Given the description of an element on the screen output the (x, y) to click on. 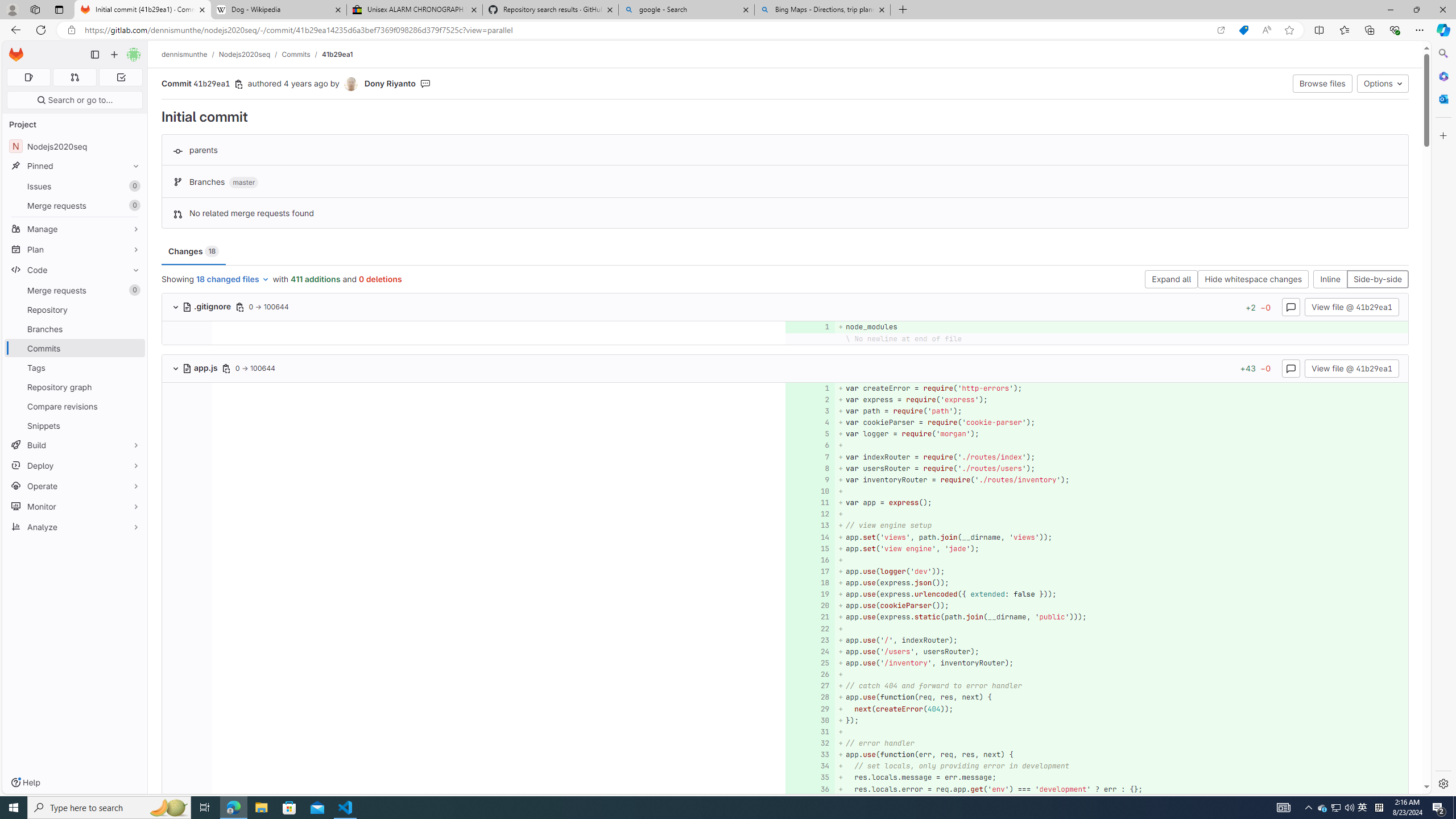
Add a comment to this line 30 (809, 720)
Skip to main content (13, 49)
+ // view engine setup  (1120, 525)
9 (808, 479)
Add a comment to this line 27 (809, 686)
Primary navigation sidebar (94, 54)
+ var createError = require('http-errors');  (1120, 387)
+ var logger = require('morgan');  (1120, 434)
Shopping in Microsoft Edge (1243, 29)
Homepage (16, 54)
